Given the description of an element on the screen output the (x, y) to click on. 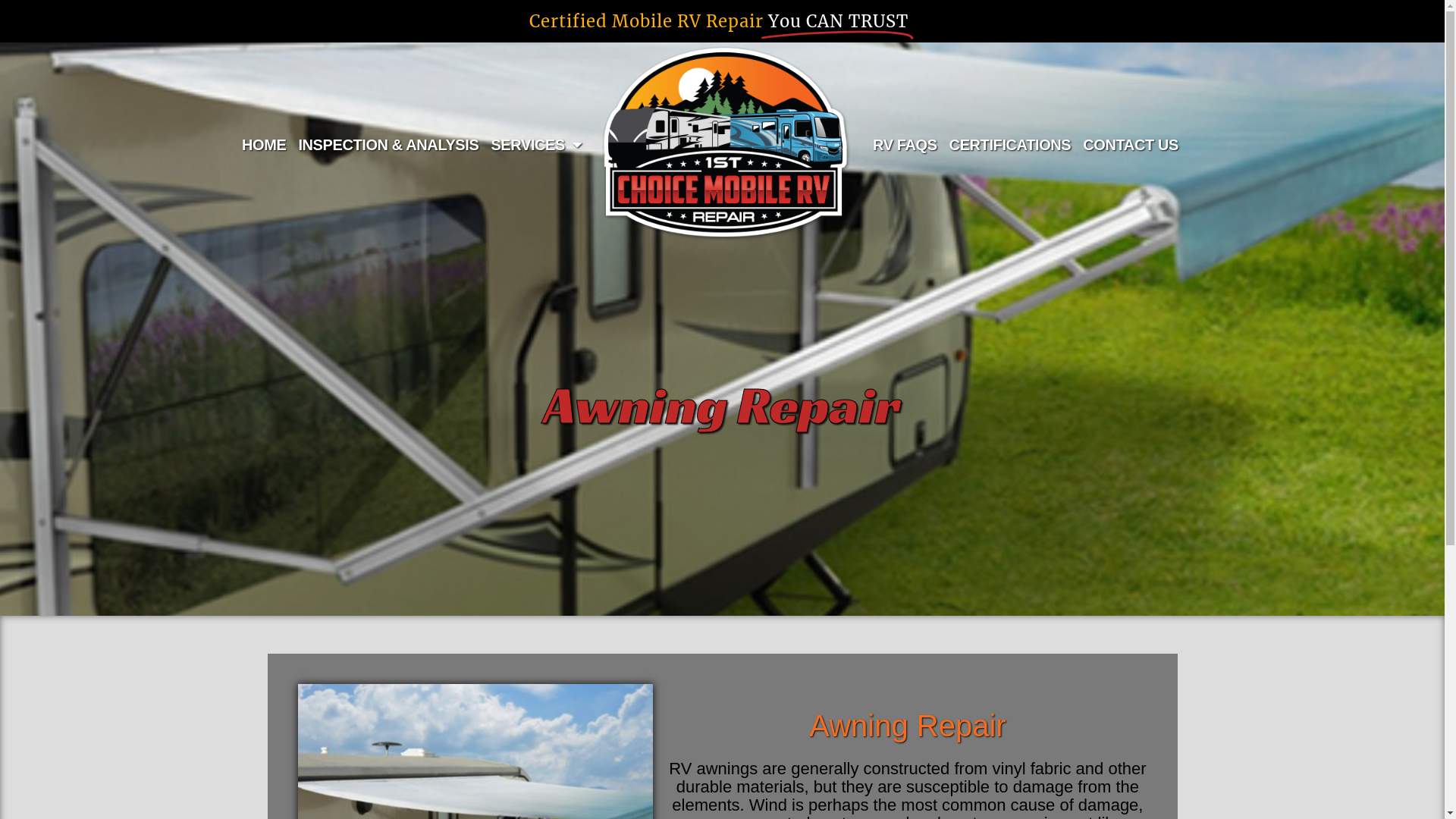
CERTIFICATIONS Element type: text (1010, 144)
RV FAQS Element type: text (904, 144)
HOME Element type: text (263, 144)
CONTACT US Element type: text (1130, 144)
SERVICES Element type: text (535, 144)
First Choice Mobile RV Repair Montgomery Texas 77316 Element type: hover (727, 144)
INSPECTION & ANALYSIS Element type: text (387, 144)
